Given the description of an element on the screen output the (x, y) to click on. 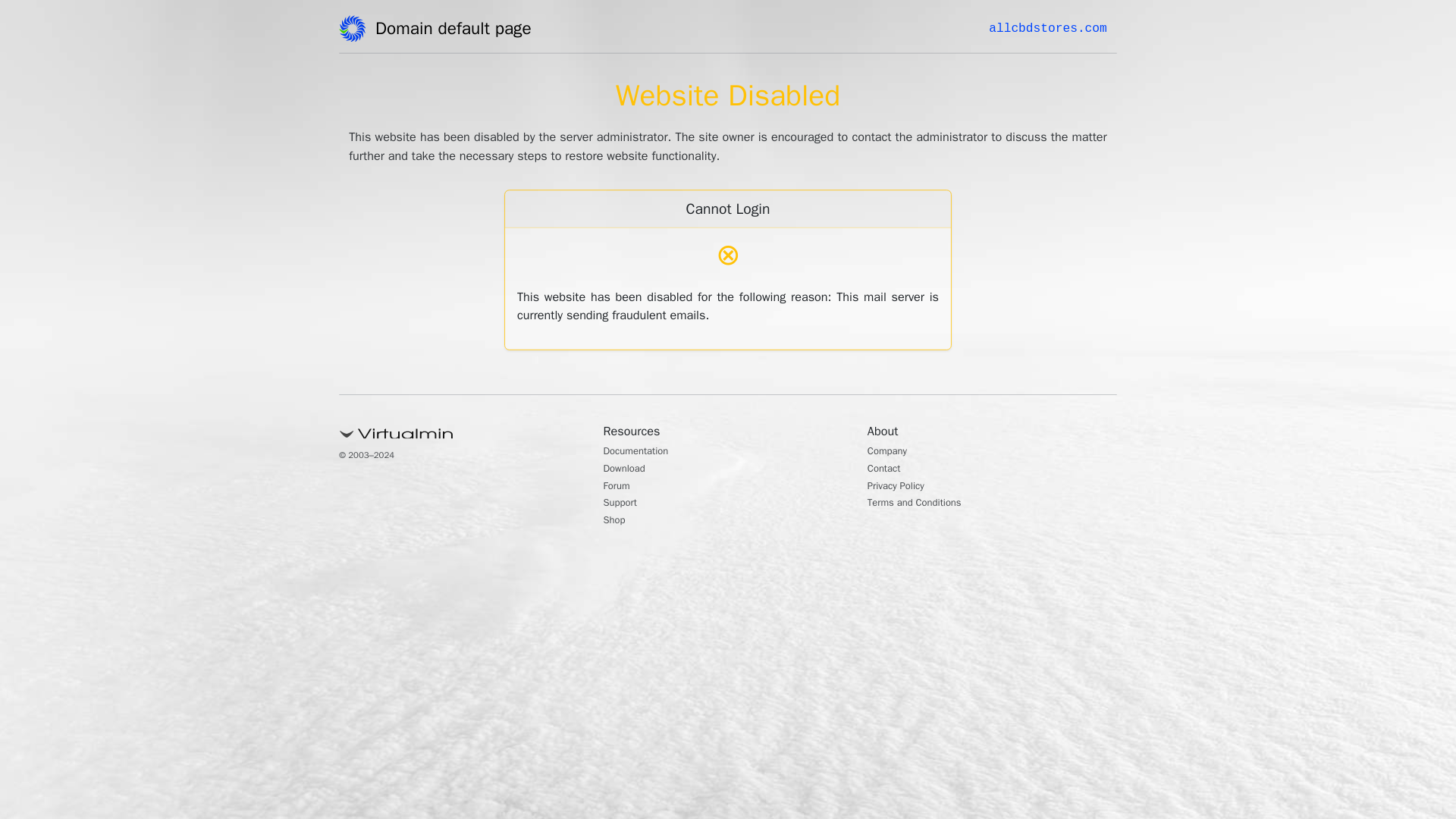
Terms of Use (996, 330)
DMCA Policy (996, 282)
Contact Us (991, 258)
Search (1050, 85)
Disclaimer (990, 354)
RSS (977, 612)
ADMINISTRATOR (417, 81)
Skip to content (34, 9)
Latest Article (996, 172)
Search (1050, 85)
Privacy Policy (999, 306)
Search (1050, 85)
August 2020 (996, 432)
BDCLIFEINSTYLE.COM (411, 28)
Blog (976, 510)
